Given the description of an element on the screen output the (x, y) to click on. 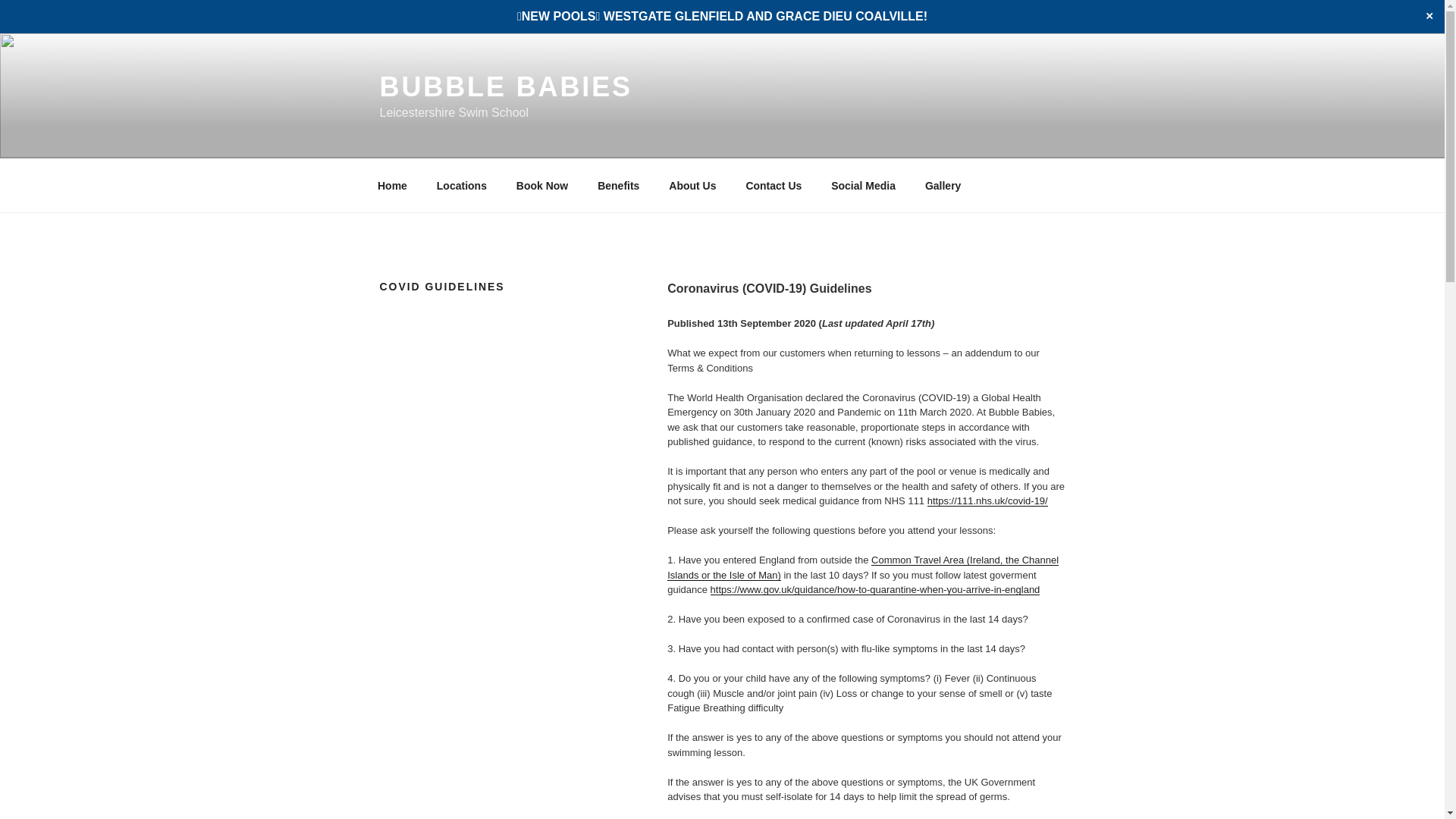
Contact Us (773, 185)
Social Media (863, 185)
Home (392, 185)
About Us (692, 185)
Locations (461, 185)
Gallery (942, 185)
BUBBLE BABIES (504, 86)
Book Now (541, 185)
Benefits (618, 185)
